Given the description of an element on the screen output the (x, y) to click on. 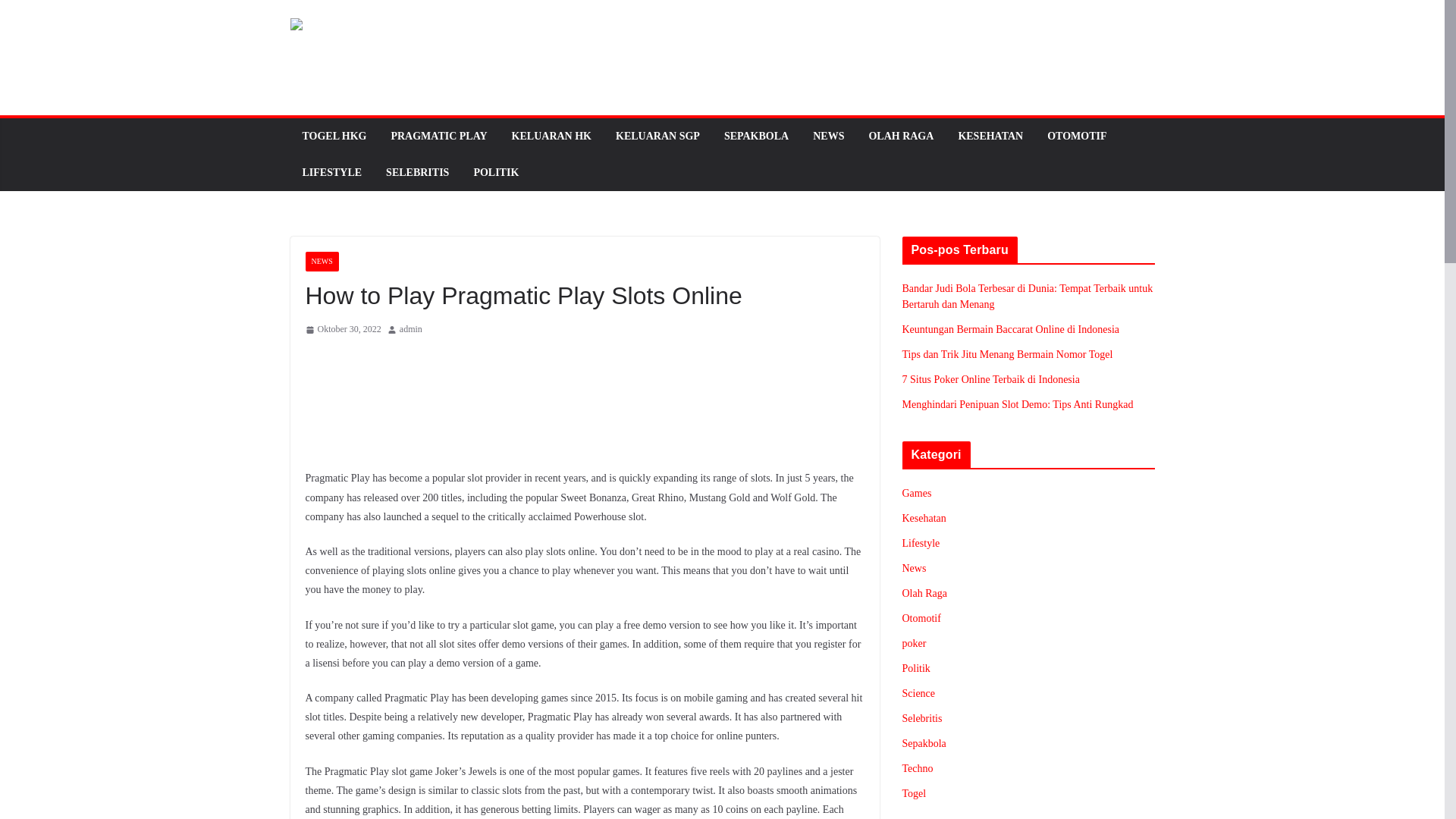
Lifestyle (921, 542)
TOGEL HKG (333, 136)
KELUARAN SGP (657, 136)
Games (916, 492)
3:32 am (342, 329)
Menghindari Penipuan Slot Demo: Tips Anti Rungkad (1018, 404)
News (914, 568)
Techno (917, 767)
Otomotif (921, 618)
Politik (916, 668)
Science (919, 693)
PRAGMATIC PLAY (438, 136)
KELUARAN HK (551, 136)
OLAH RAGA (900, 136)
SELEBRITIS (416, 172)
